Given the description of an element on the screen output the (x, y) to click on. 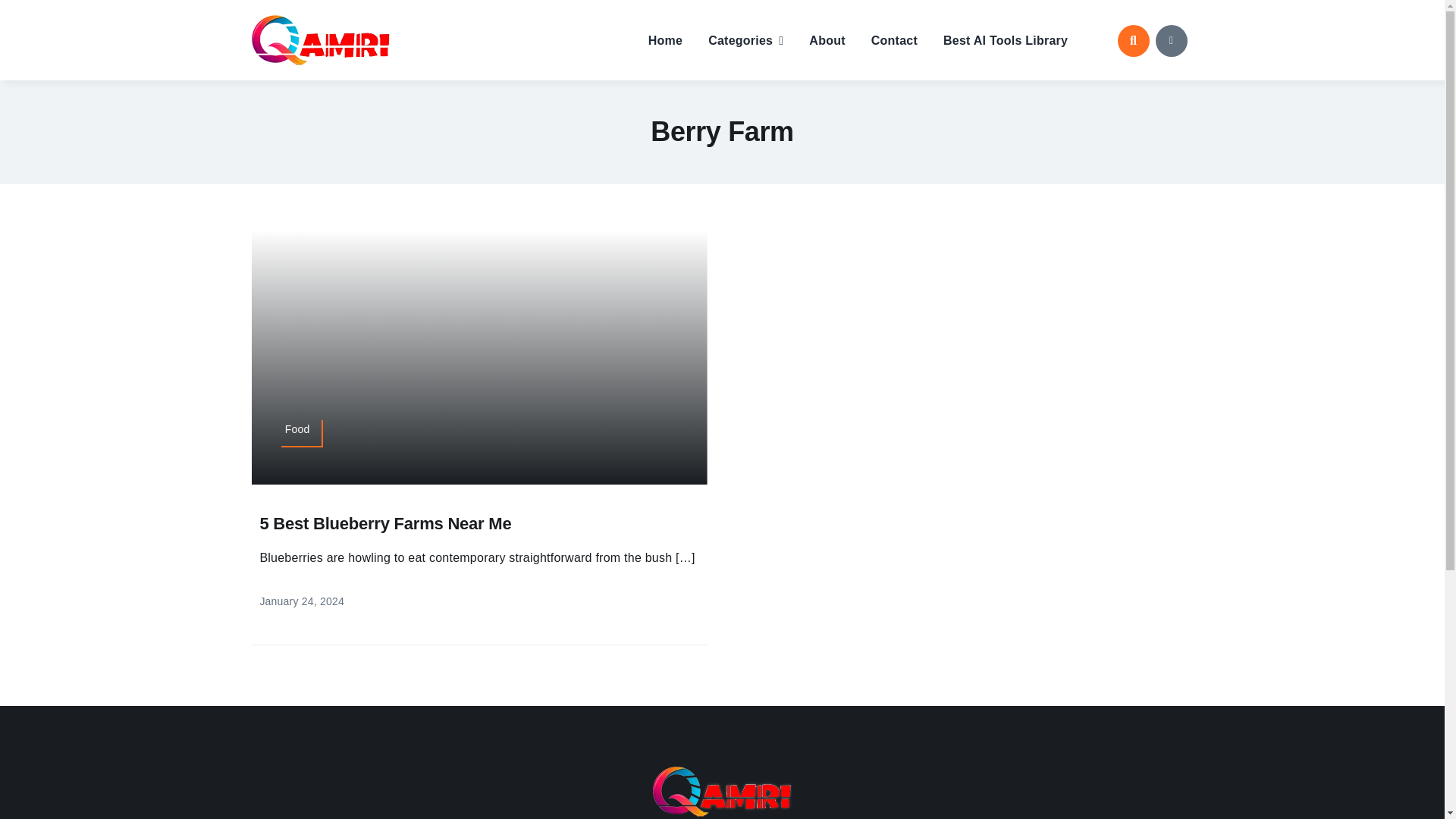
Categories (745, 39)
